Given the description of an element on the screen output the (x, y) to click on. 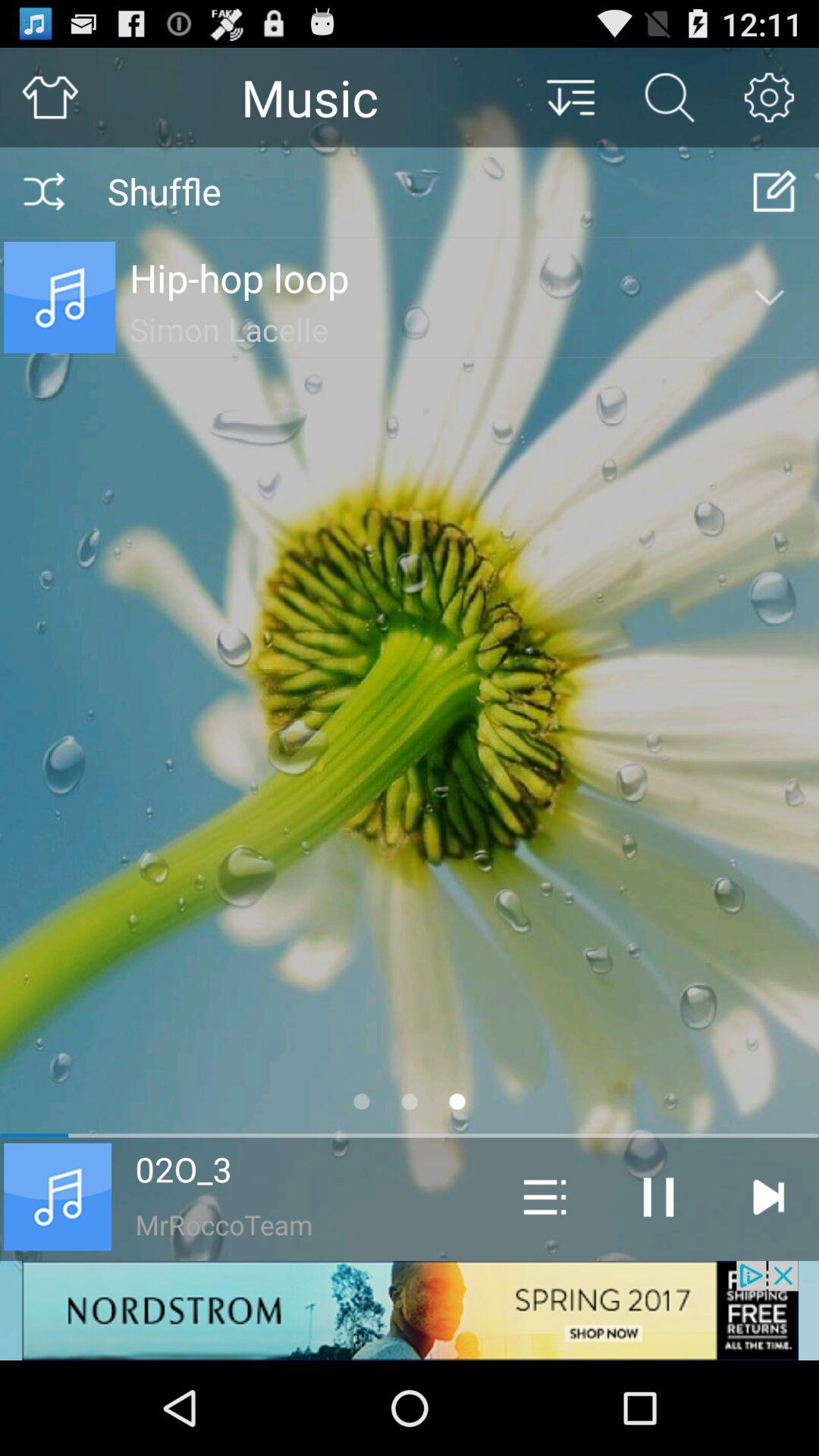
select the music symbol which is left 0203 (57, 1196)
